Given the description of an element on the screen output the (x, y) to click on. 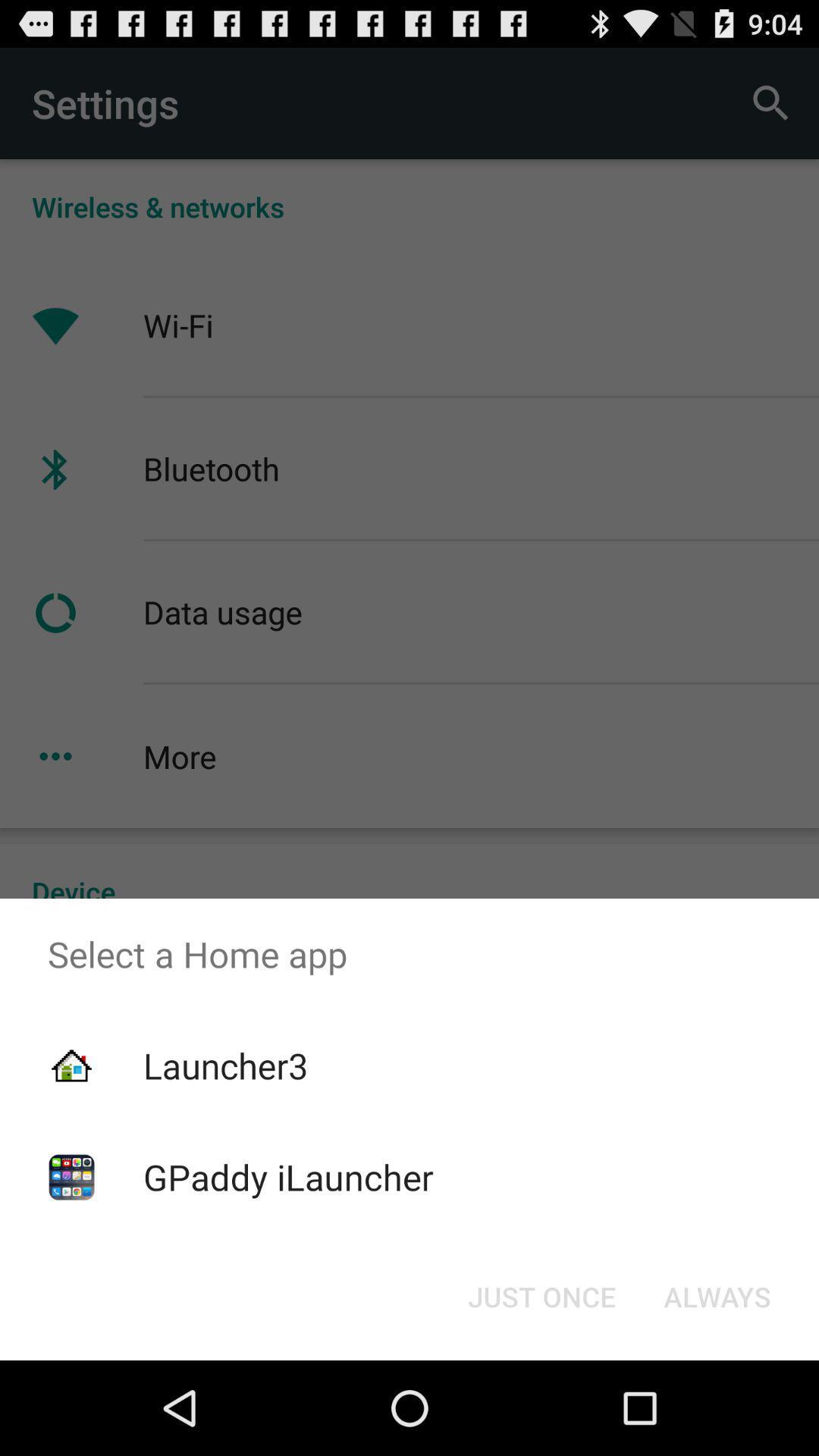
swipe to launcher3 app (225, 1065)
